Given the description of an element on the screen output the (x, y) to click on. 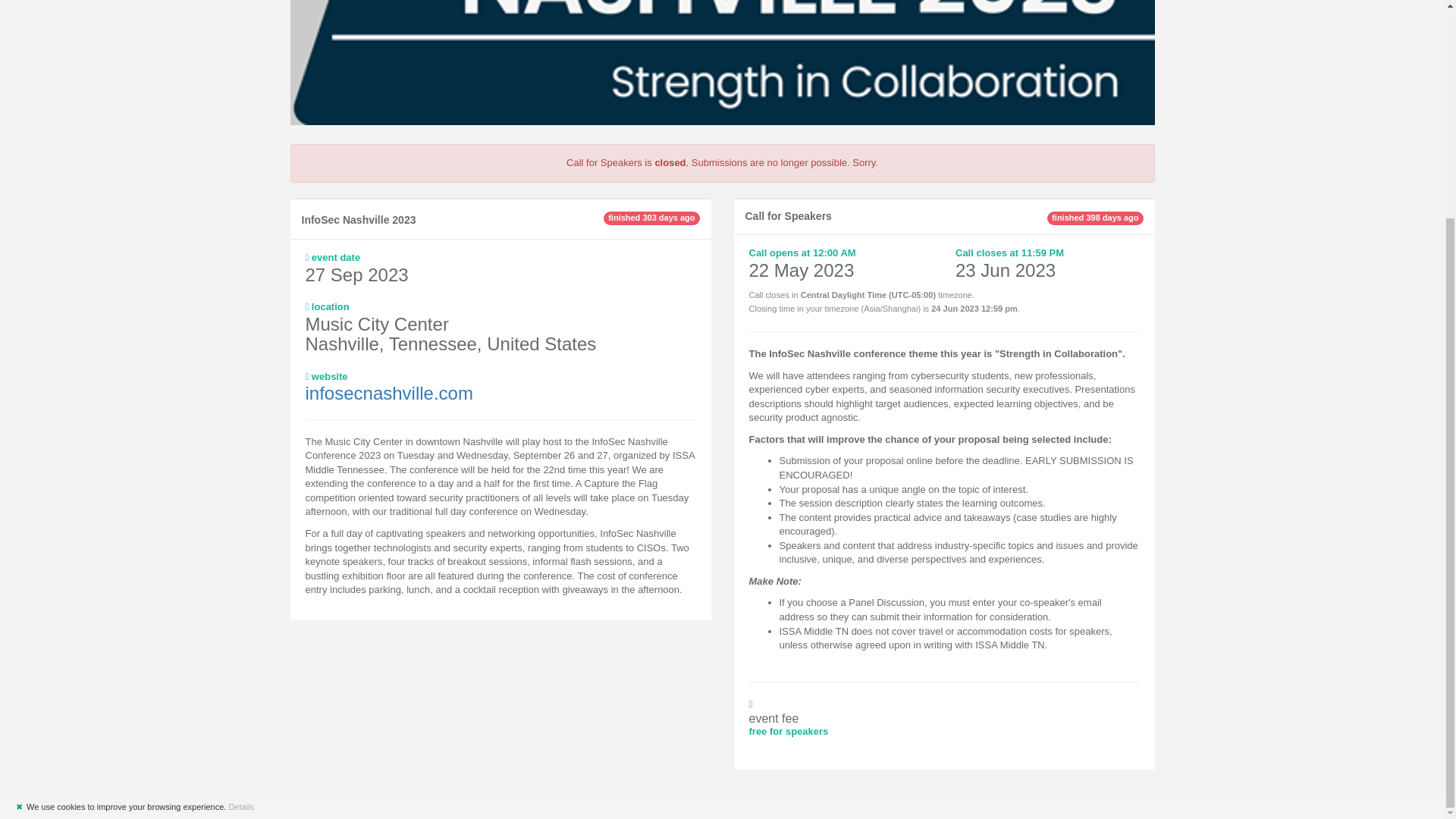
infosecnashville.com (374, 393)
Details (240, 519)
